Given the description of an element on the screen output the (x, y) to click on. 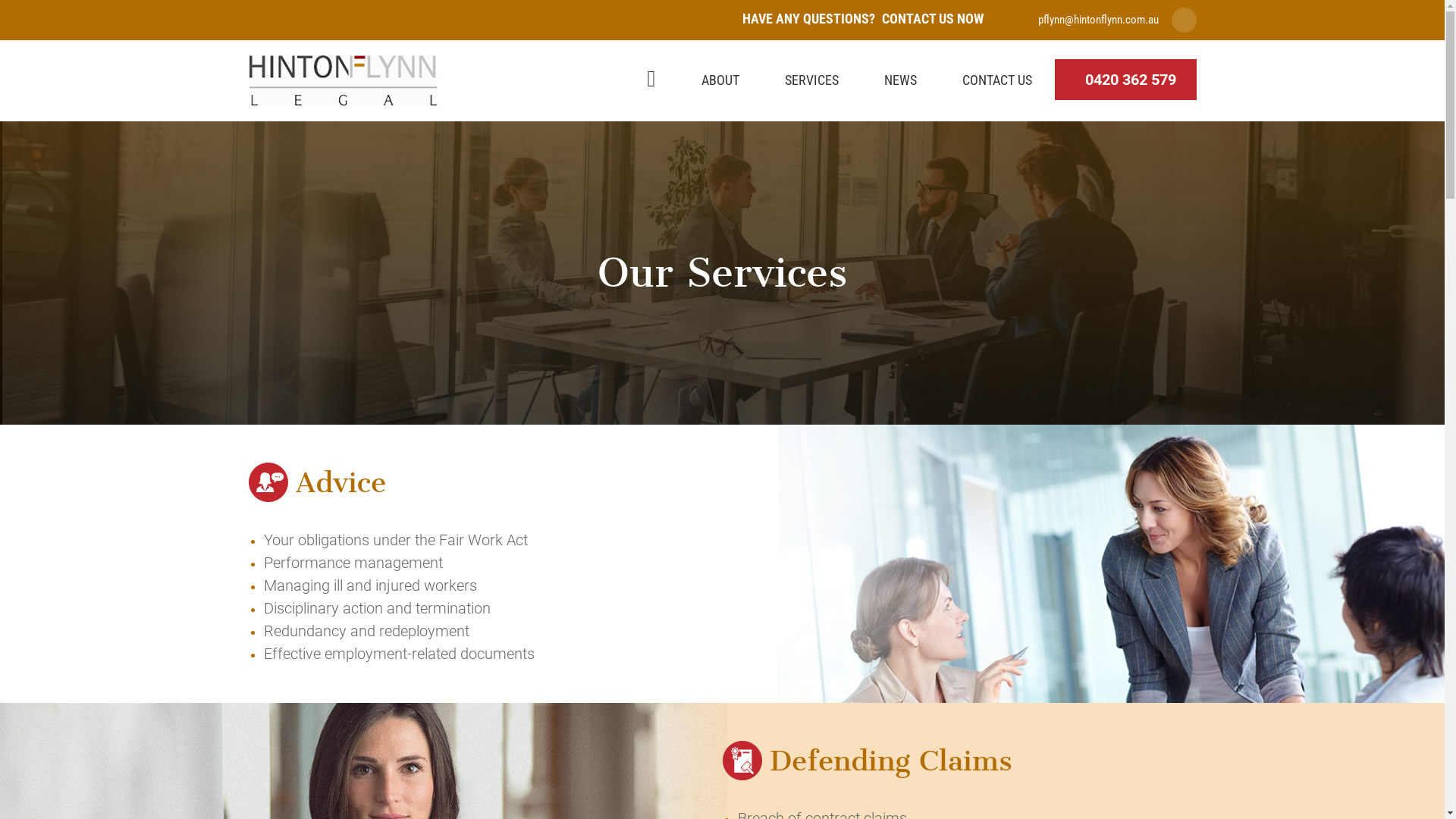
0420 362 579 Element type: text (1124, 79)
CONTACT US Element type: text (996, 79)
ABOUT Element type: text (719, 79)
HAVE ANY QUESTIONS? CONTACT US NOW Element type: text (861, 18)
pflynn@hintonflynn.com.au Element type: text (1097, 19)
SERVICES Element type: text (810, 79)
NEWS Element type: text (900, 79)
